Given the description of an element on the screen output the (x, y) to click on. 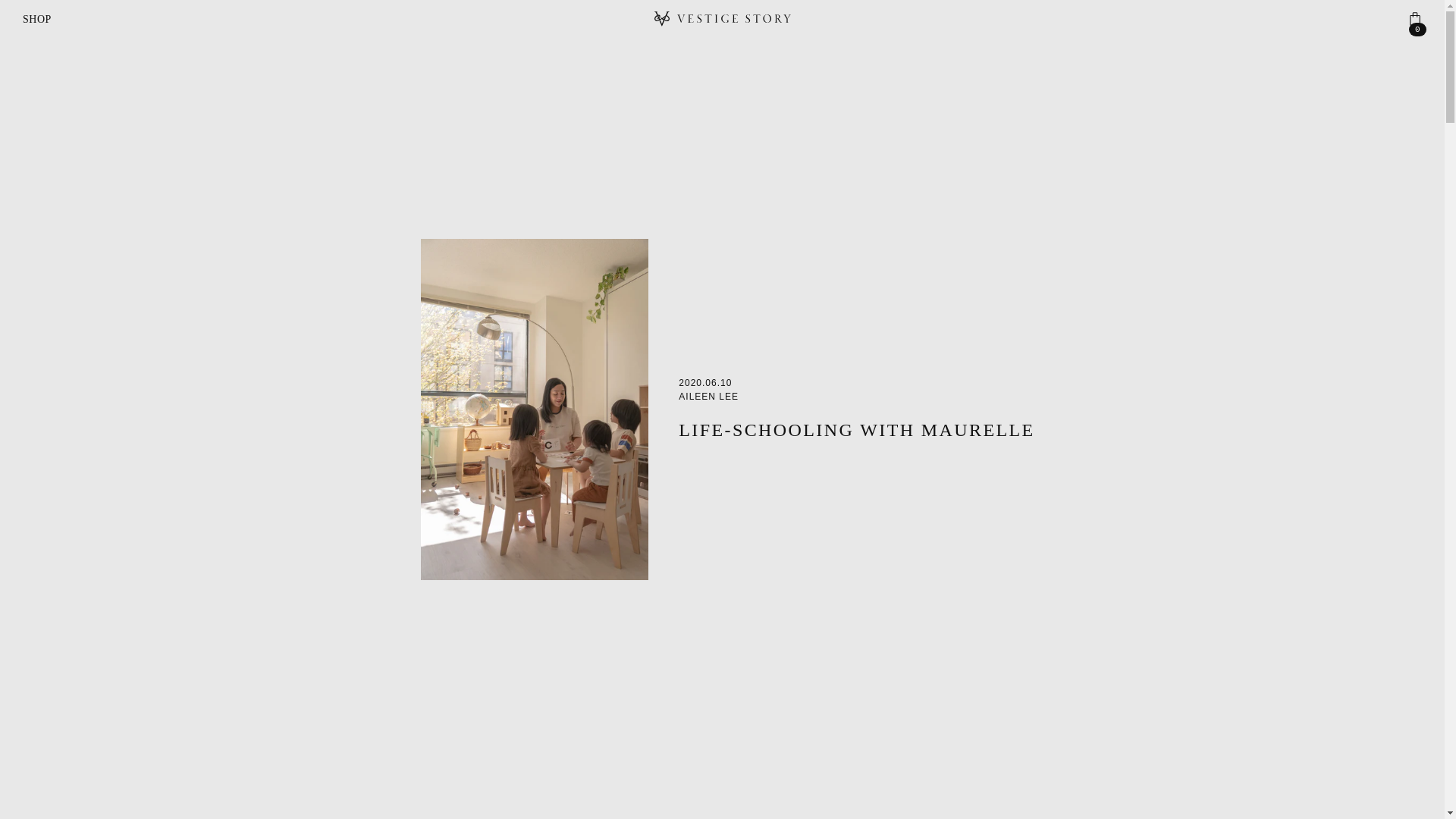
SHOP (36, 18)
0 (1414, 18)
Home (721, 18)
Shop (36, 18)
cart.tag (1414, 18)
